Given the description of an element on the screen output the (x, y) to click on. 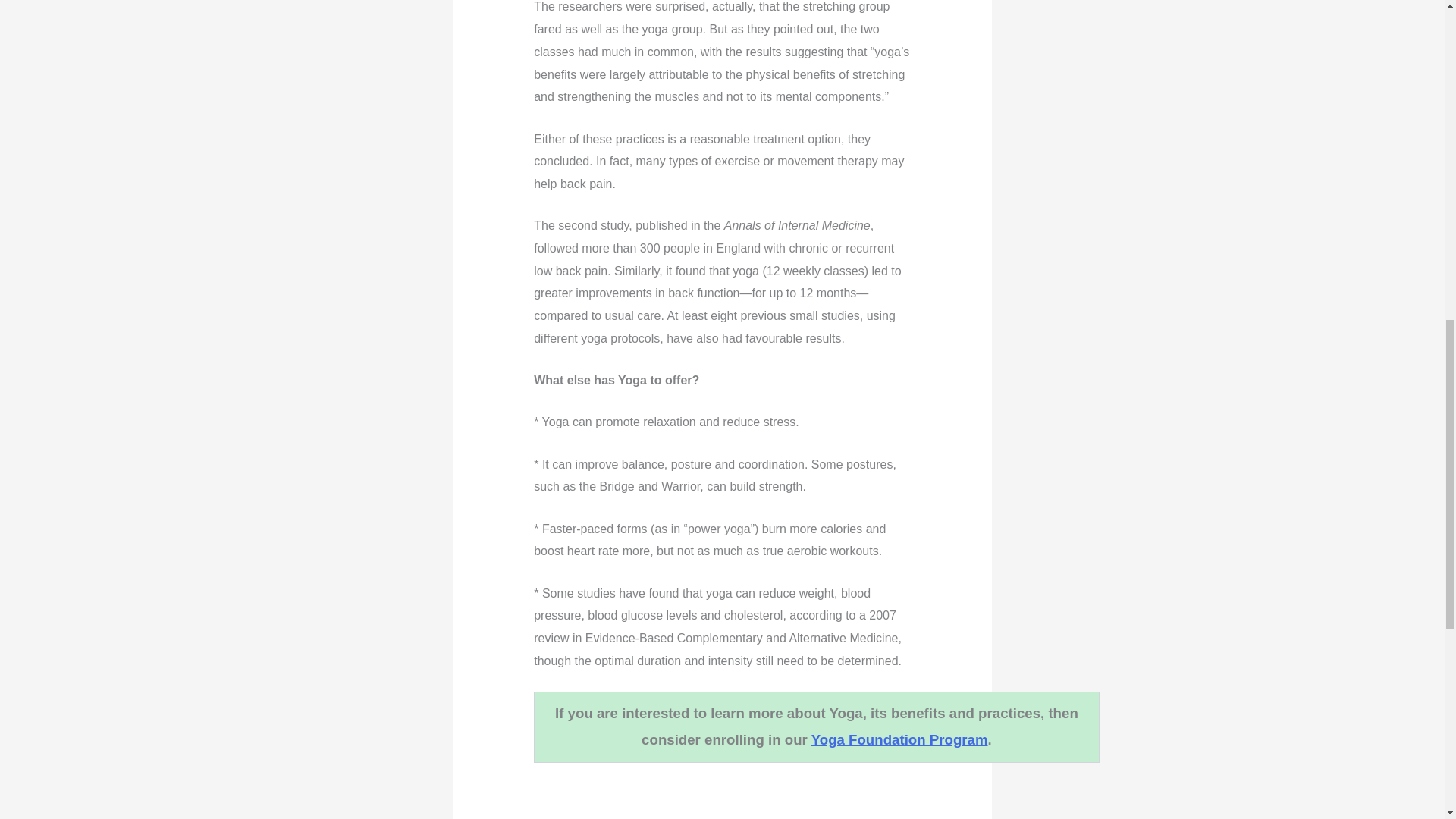
Yoga Foundation Program (899, 739)
